Given the description of an element on the screen output the (x, y) to click on. 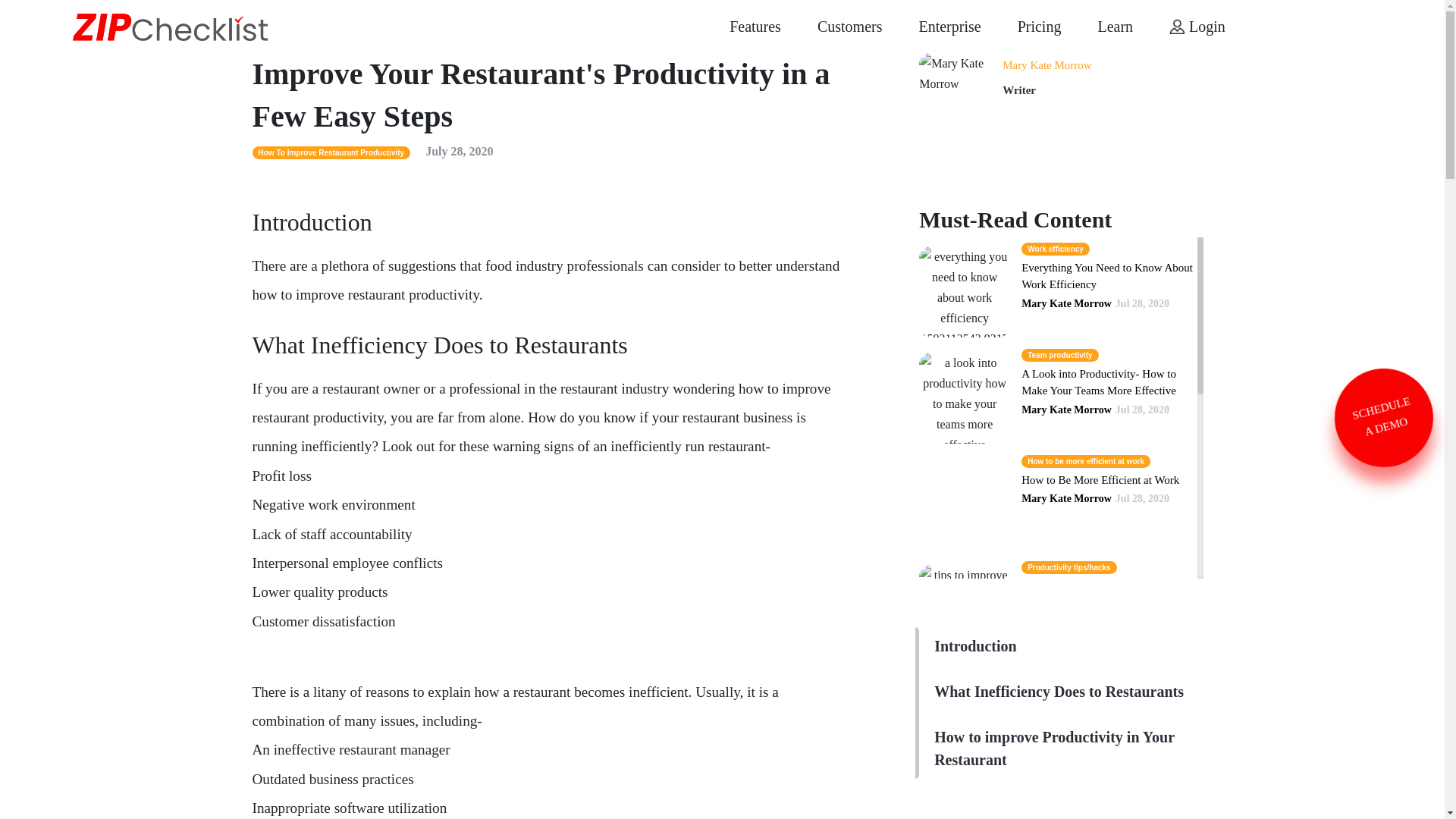
Login (1197, 26)
Mary Kate Morrow (1046, 64)
Improving Work Efficiency and Why it Matters (1106, 805)
Pricing (1039, 26)
Customers (849, 26)
Everything You Need to Know About Work Efficiency (1107, 276)
Enterprise (949, 26)
How to Be More Efficient at Work (1100, 480)
